Given the description of an element on the screen output the (x, y) to click on. 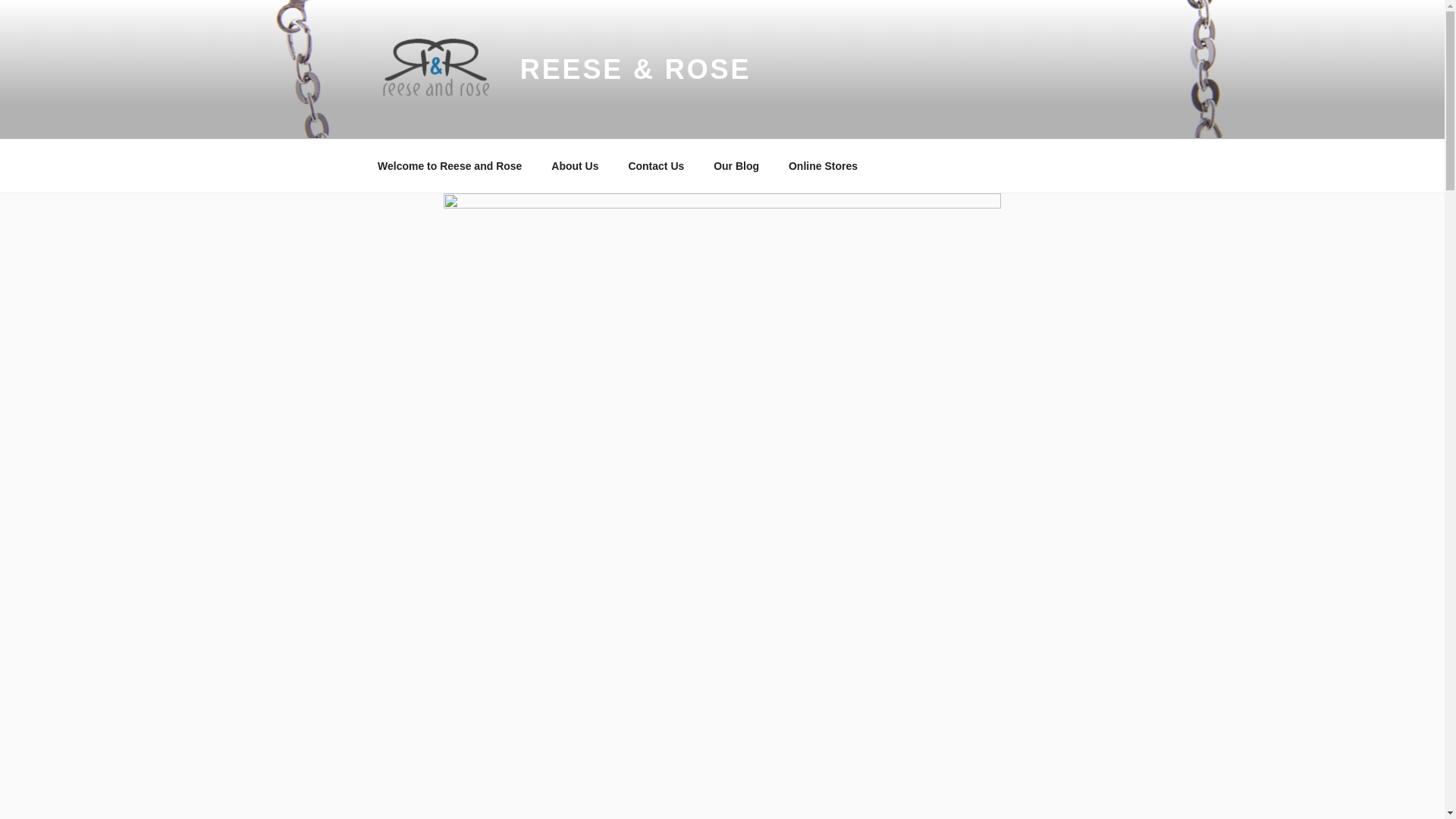
About Us (574, 165)
Contact Us (655, 165)
Welcome to Reese and Rose (449, 165)
Our Blog (736, 165)
Online Stores (822, 165)
